Given the description of an element on the screen output the (x, y) to click on. 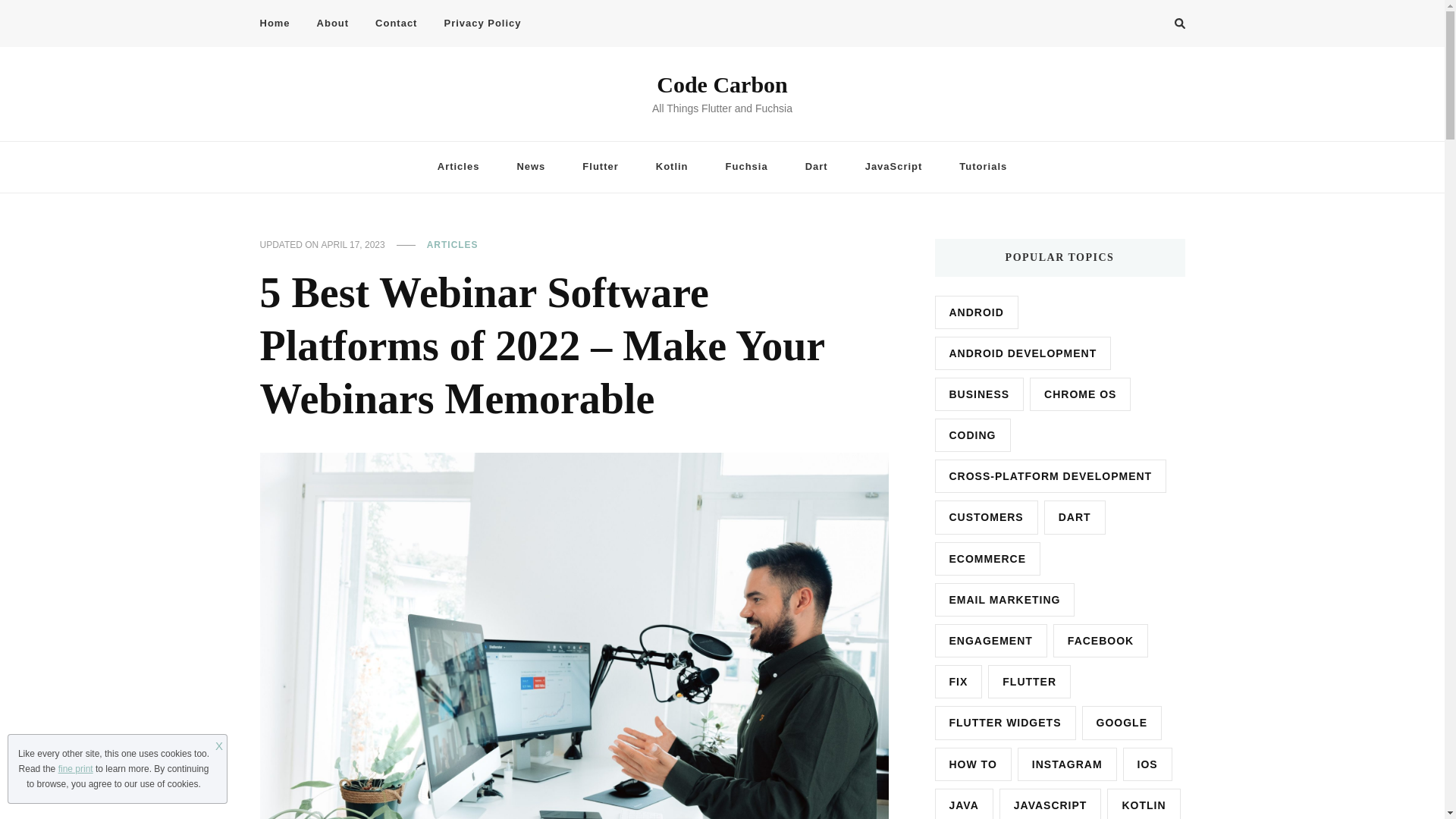
Tutorials (982, 166)
Fuchsia (746, 166)
News (530, 166)
Home (280, 23)
Privacy Policy (482, 23)
Articles (458, 166)
Dart (816, 166)
Flutter (600, 166)
Kotlin (671, 166)
About (333, 23)
Code Carbon (721, 84)
Contact (396, 23)
APRIL 17, 2023 (353, 245)
JavaScript (893, 166)
ARTICLES (452, 245)
